Given the description of an element on the screen output the (x, y) to click on. 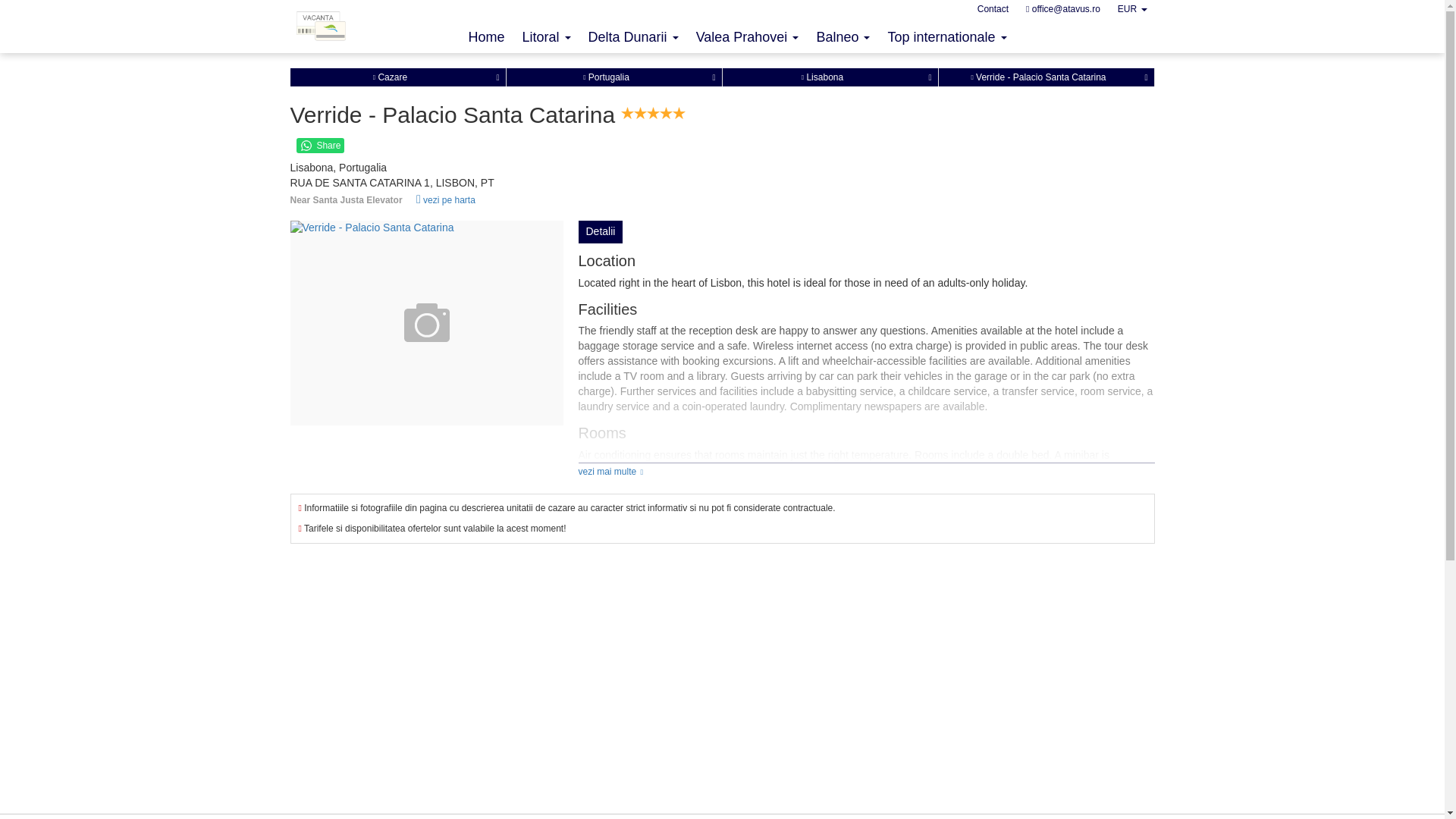
Balneo (842, 36)
Litoral (546, 36)
Valea Prahovei (747, 36)
Delta Dunarii (632, 36)
Near Santa Justa Elevator (574, 199)
